Given the description of an element on the screen output the (x, y) to click on. 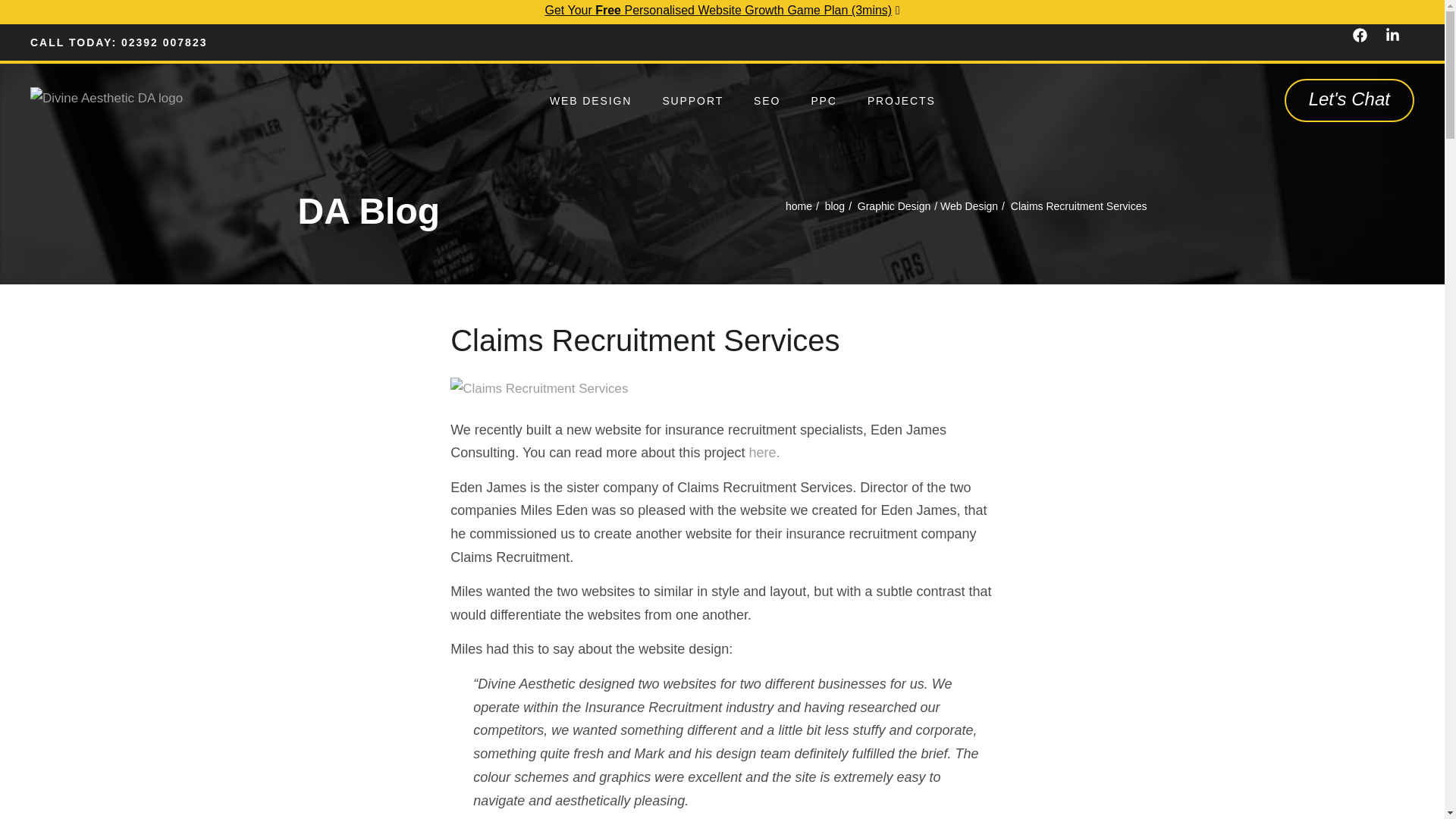
CALL TODAY: 02392 007823 (118, 42)
home (799, 205)
Let's Chat (1348, 100)
SUPPORT (692, 100)
PROJECTS (900, 100)
here. (763, 452)
WEB DESIGN (590, 100)
Web Design (968, 205)
Graphic Design (894, 205)
PPC (822, 100)
SEO (766, 100)
blog (834, 205)
